Given the description of an element on the screen output the (x, y) to click on. 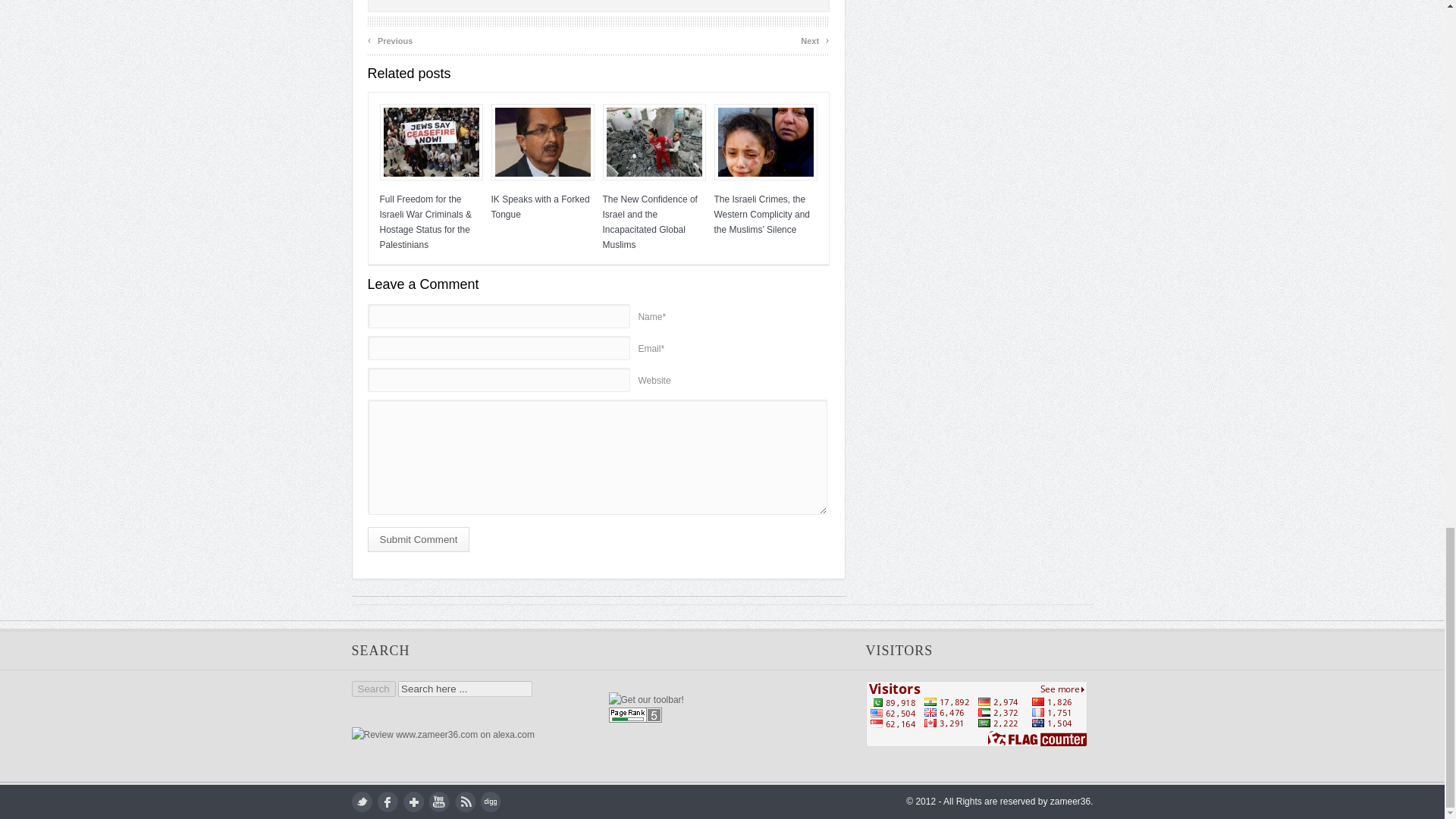
IK Speaks with a Forked Tongue (540, 207)
Search here ... (464, 688)
IK Speaks with a Forked Tongue (543, 142)
Search (374, 688)
PageRank Checking Icon (635, 719)
